Given the description of an element on the screen output the (x, y) to click on. 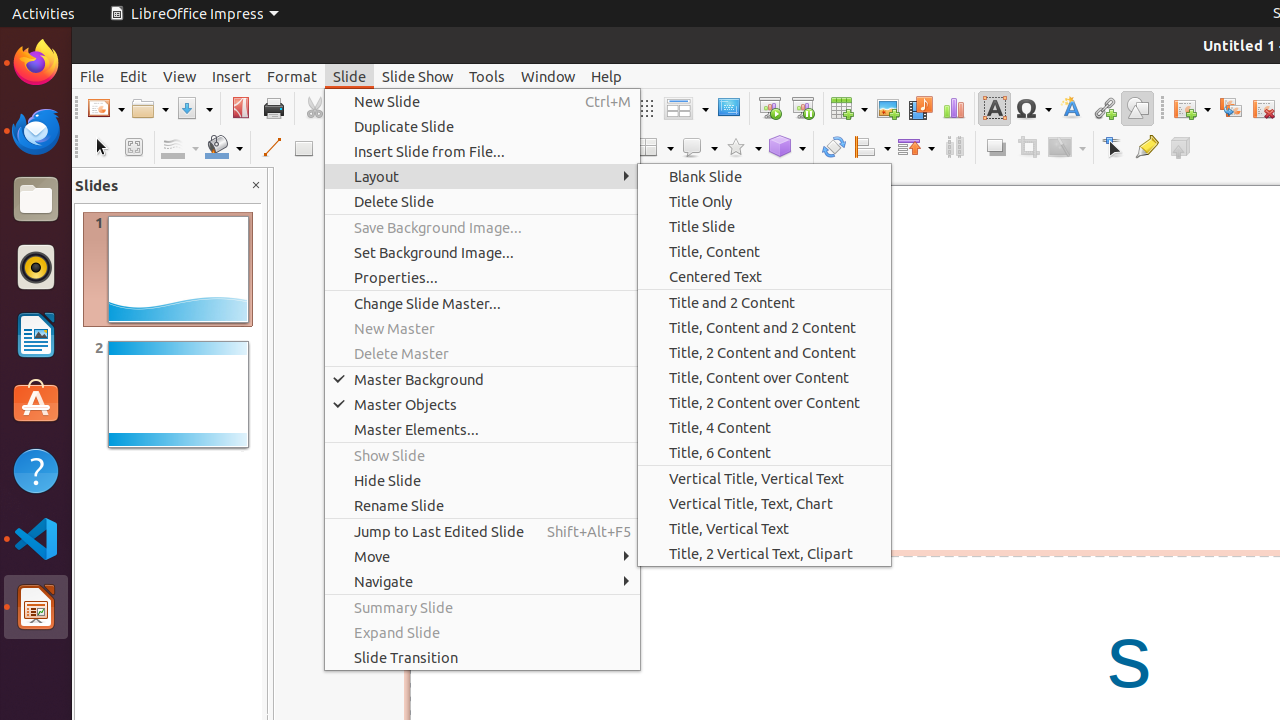
Title, 2 Content and Content Element type: menu-item (764, 352)
Thunderbird Mail Element type: push-button (36, 131)
Blank Slide Element type: menu-item (764, 176)
Rhythmbox Element type: push-button (36, 267)
